Given the description of an element on the screen output the (x, y) to click on. 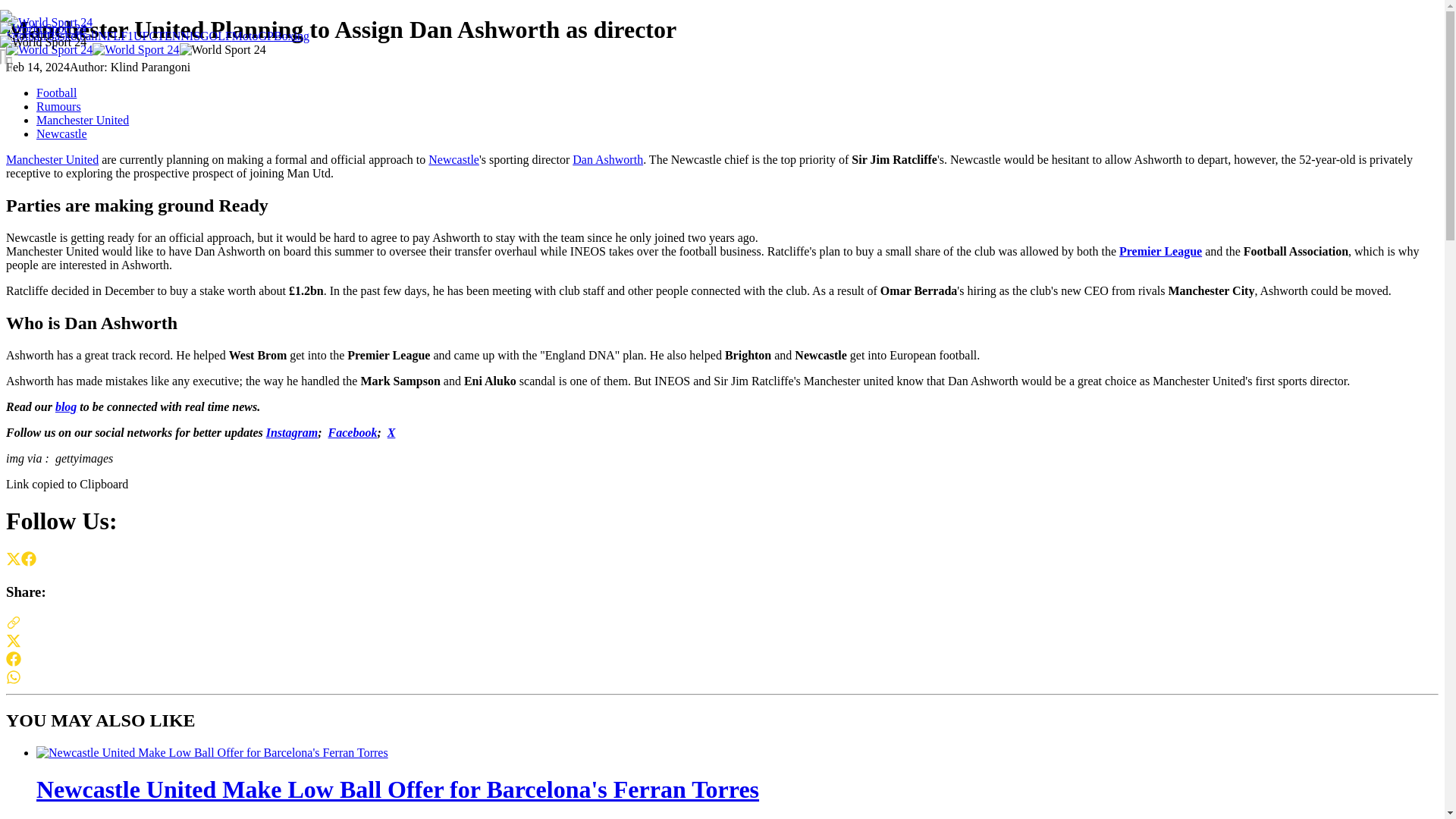
Rumours (58, 106)
Basketball (71, 35)
Manchester United (52, 159)
Newcastle (61, 133)
Football (56, 92)
Manchester United (82, 119)
Premier League (1160, 250)
Newcastle (453, 159)
F1 (126, 35)
TENNIS (178, 35)
